Given the description of an element on the screen output the (x, y) to click on. 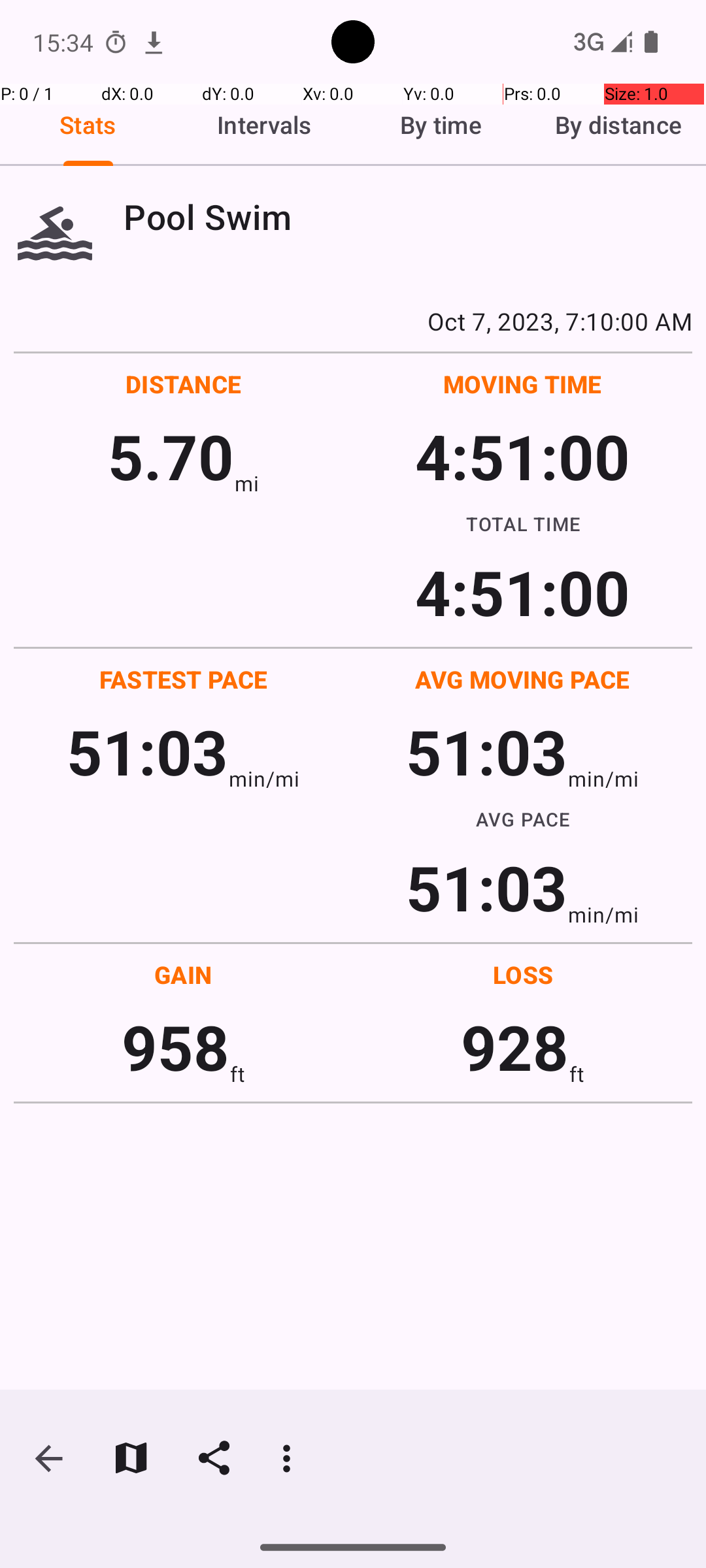
Pool Swim Element type: android.widget.TextView (407, 216)
Oct 7, 2023, 7:10:00 AM Element type: android.widget.TextView (352, 320)
5.70 Element type: android.widget.TextView (170, 455)
4:51:00 Element type: android.widget.TextView (522, 455)
51:03 Element type: android.widget.TextView (147, 750)
958 Element type: android.widget.TextView (175, 1045)
928 Element type: android.widget.TextView (514, 1045)
